Given the description of an element on the screen output the (x, y) to click on. 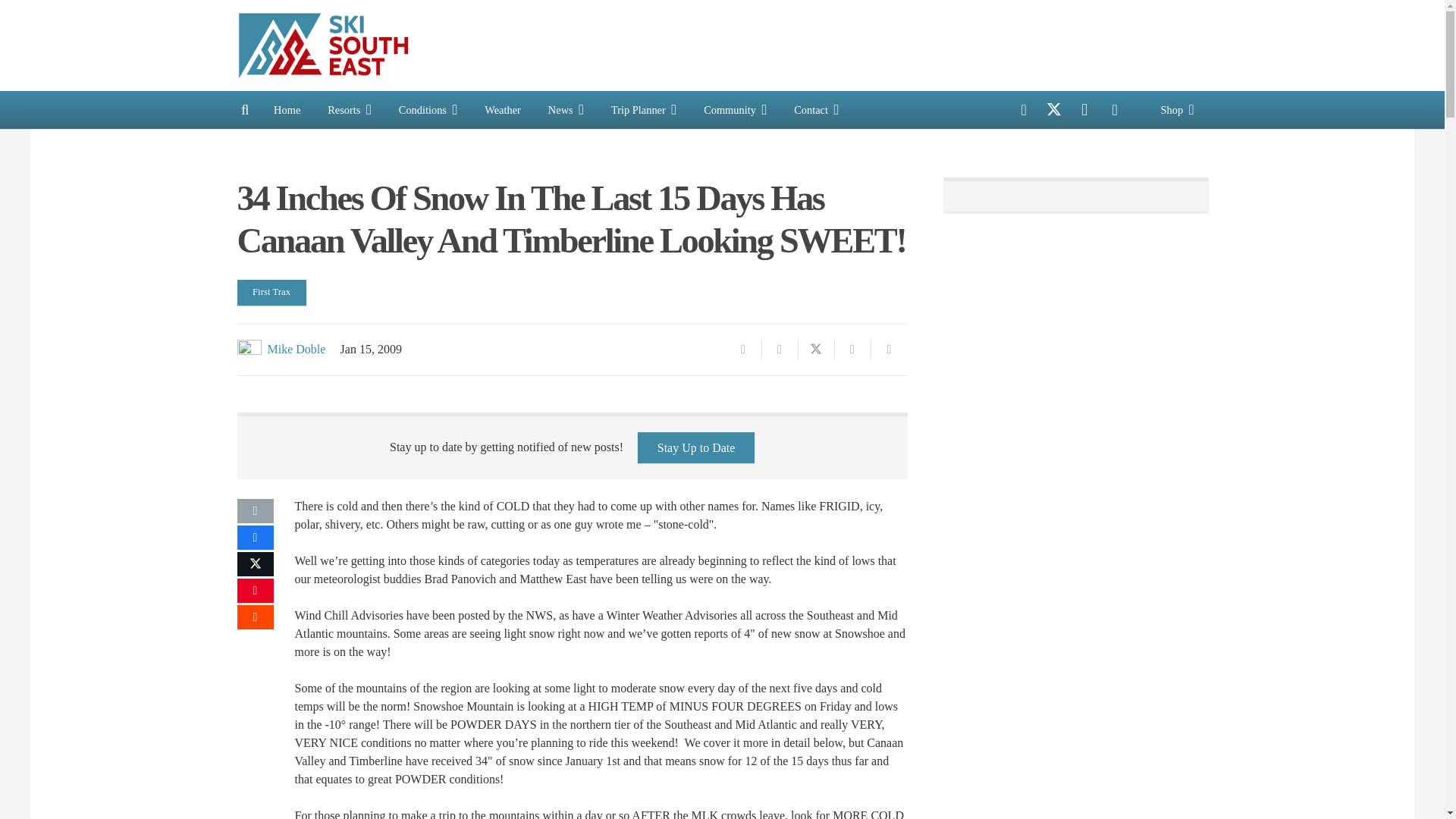
Tweet this (815, 349)
Email this (254, 510)
Email this (743, 349)
Tweet this (254, 564)
Resorts (349, 109)
Share this (254, 537)
Facebook (1024, 110)
Home (287, 109)
Instagram (1083, 110)
Pin this (852, 349)
